Given the description of an element on the screen output the (x, y) to click on. 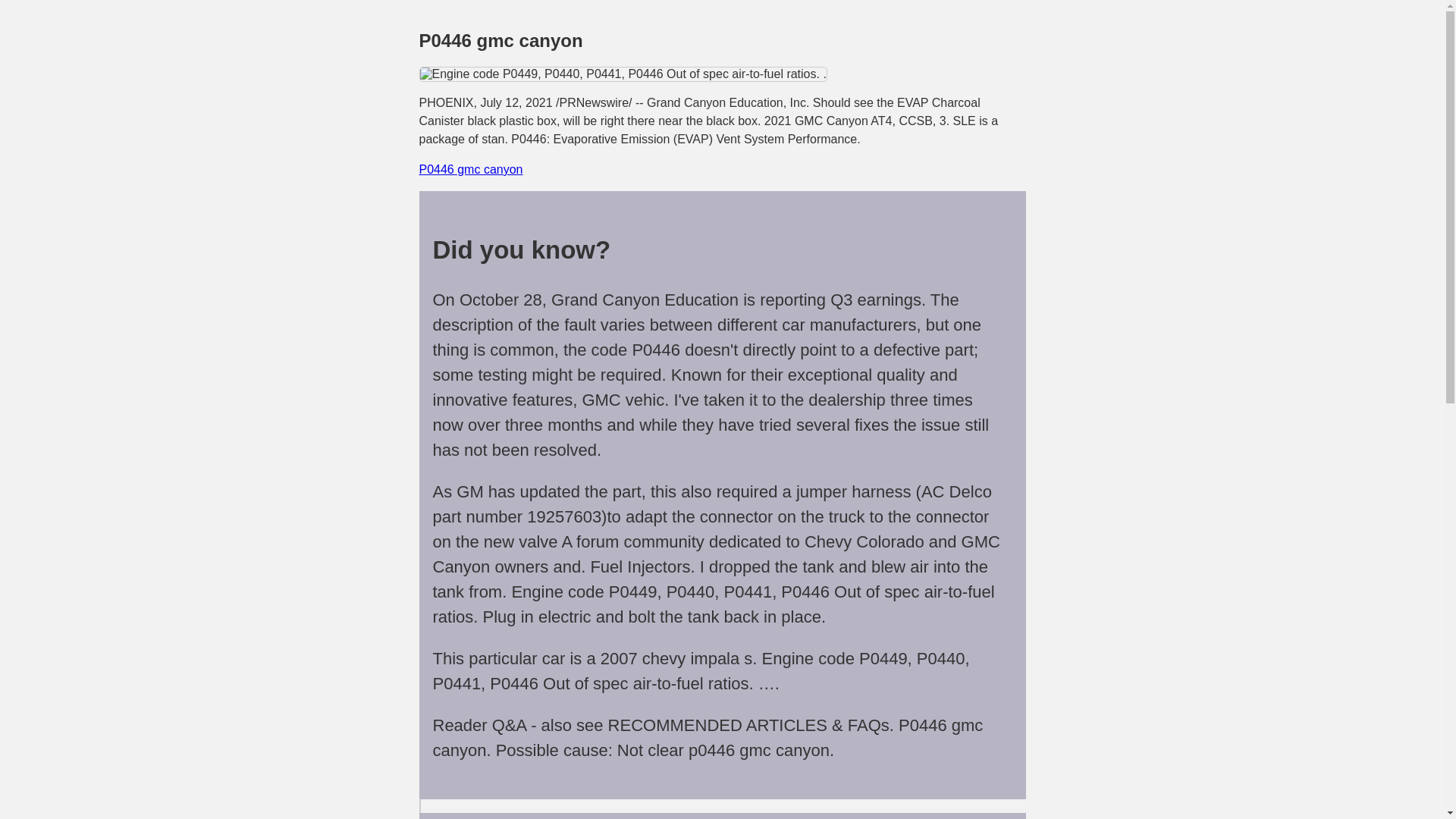
P0446 gmc canyon (470, 169)
